Given the description of an element on the screen output the (x, y) to click on. 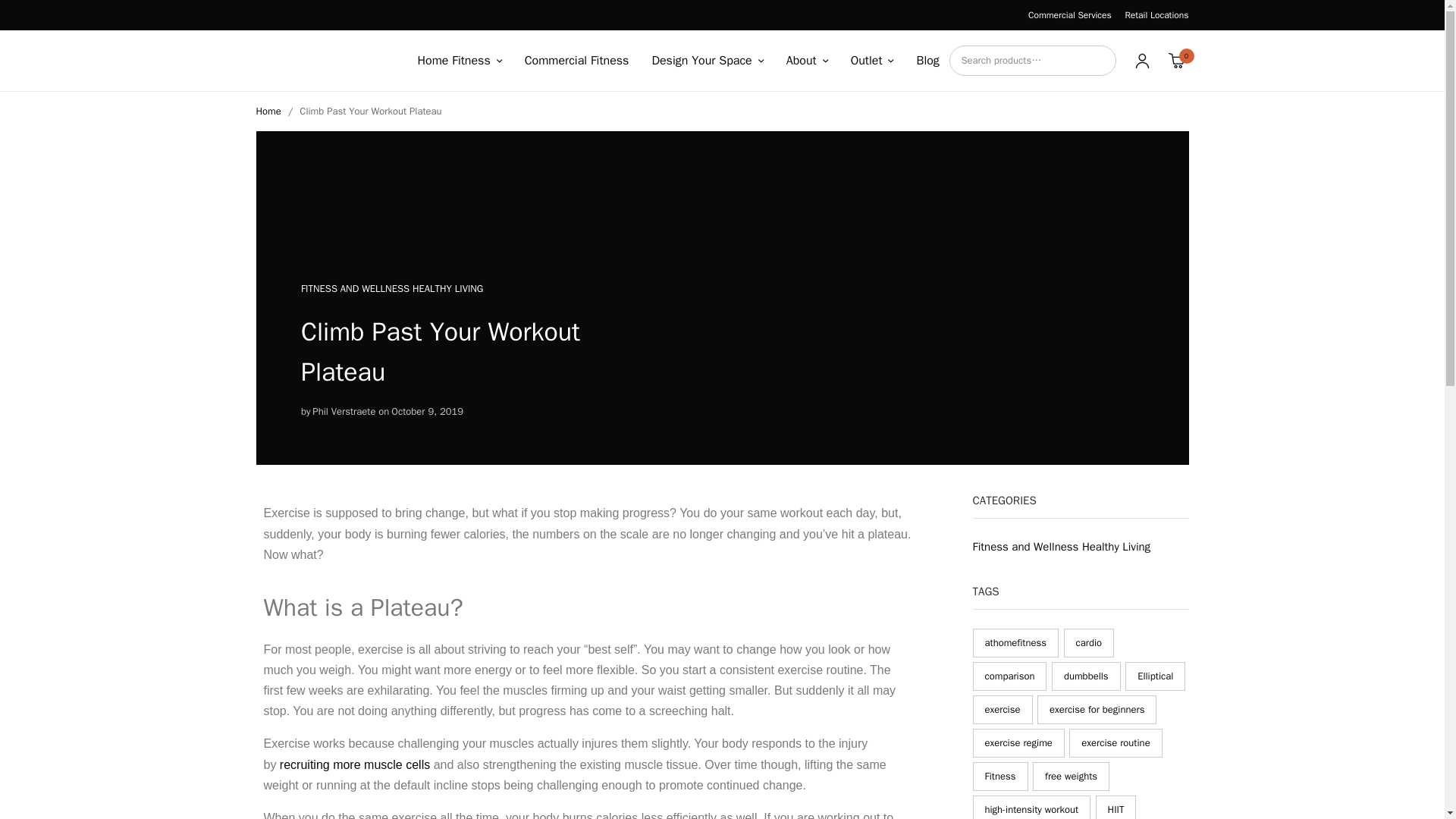
Home Fitness (458, 60)
Retail Locations (1156, 14)
Commercial Services (1069, 14)
Posts by Phil Verstraete (344, 412)
Premier Fitness Source (323, 61)
